Given the description of an element on the screen output the (x, y) to click on. 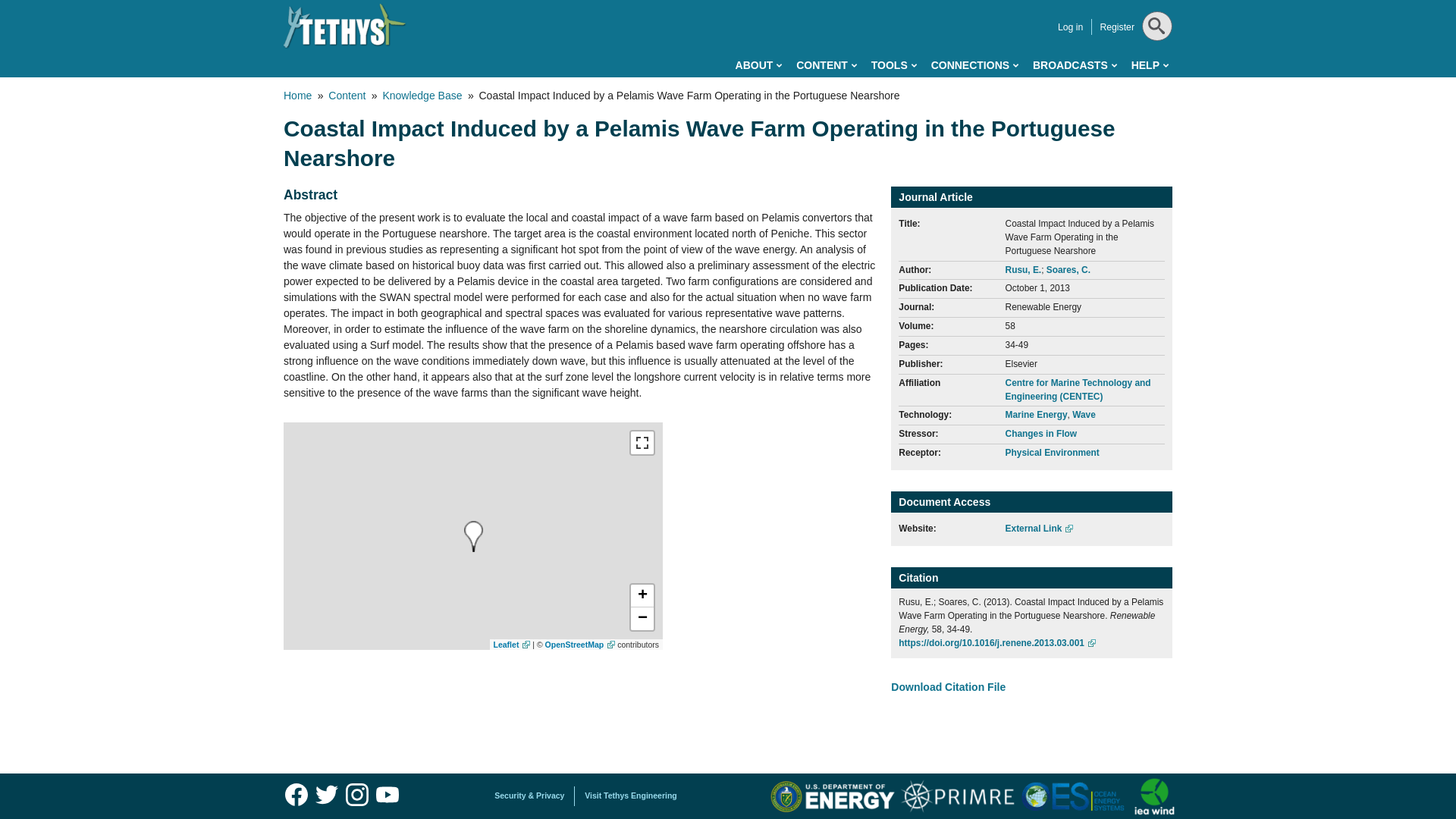
Home (344, 26)
Skip to main content (659, 3)
A JavaScript library for interactive maps (512, 644)
Zoom out (641, 618)
View Fullscreen (641, 442)
Zoom in (641, 595)
Search (1155, 64)
